Given the description of an element on the screen output the (x, y) to click on. 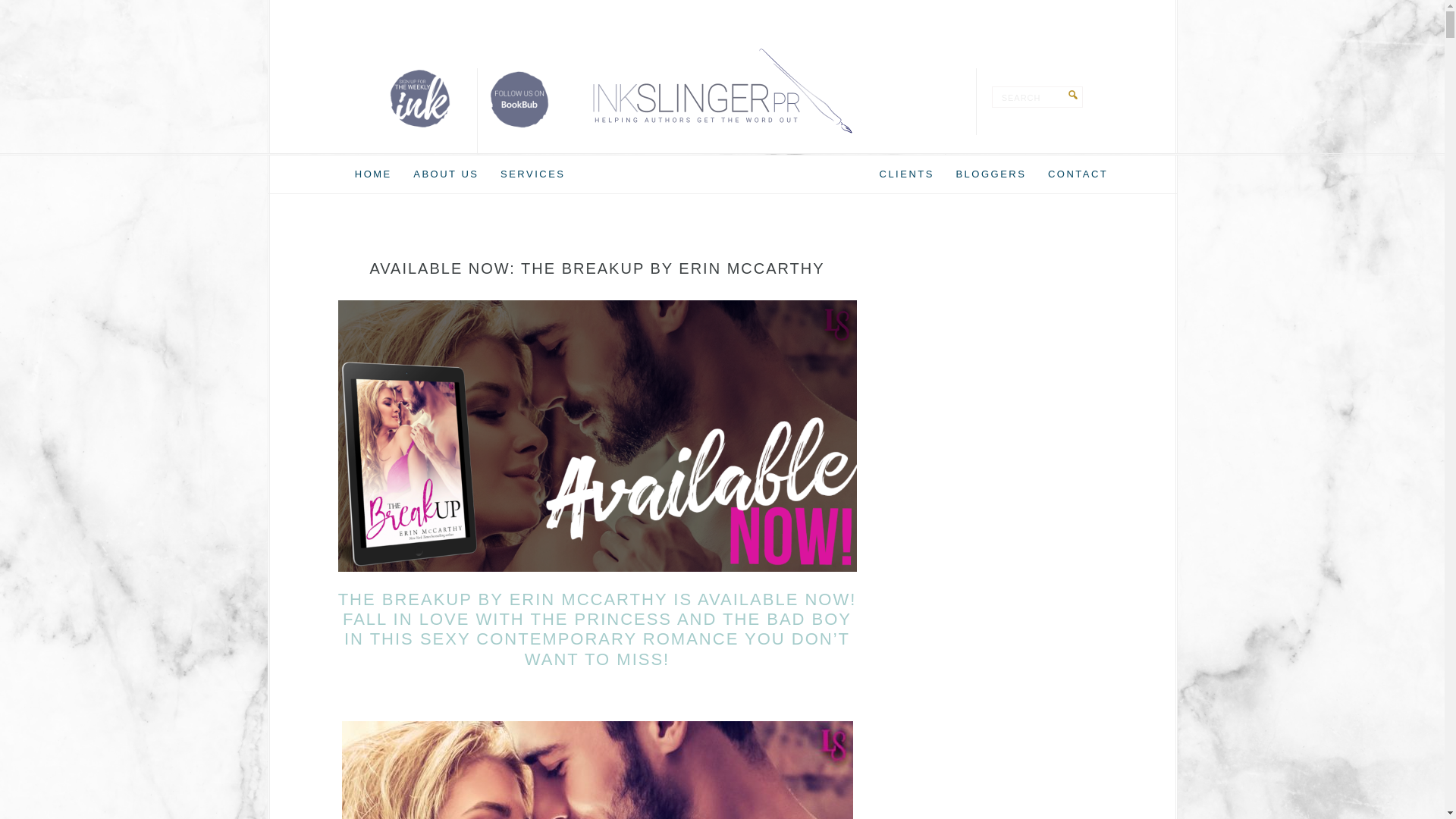
SERVICES (533, 174)
BLOGGERS (990, 174)
INKSLINGER PR (722, 91)
ABOUT US (445, 174)
HOME (373, 174)
CONTACT (1077, 174)
CLIENTS (906, 174)
AVAILABLE NOW: THE BREAKUP BY ERIN MCCARTHY (596, 268)
